Given the description of an element on the screen output the (x, y) to click on. 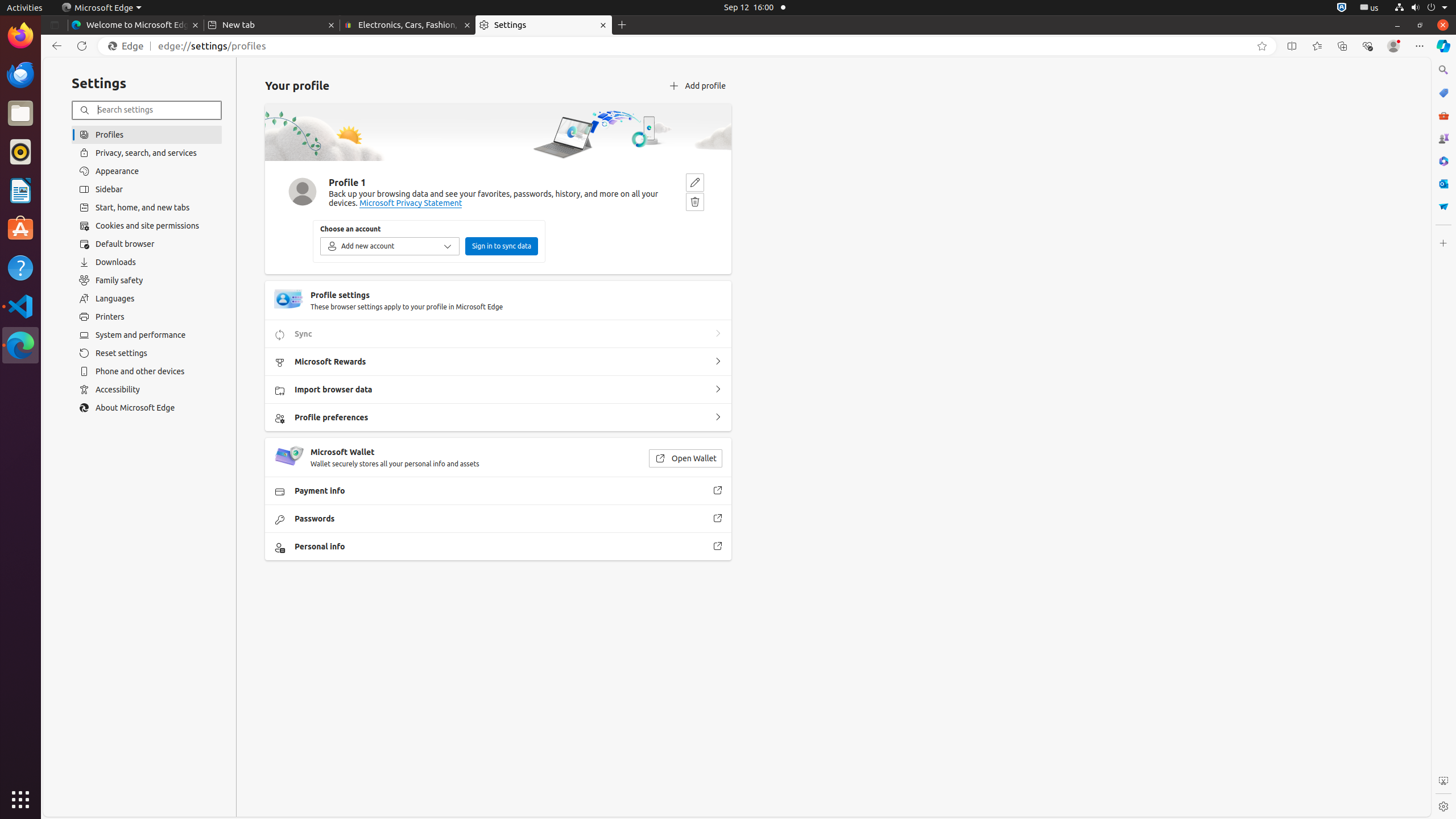
New Tab Element type: push-button (622, 25)
